Given the description of an element on the screen output the (x, y) to click on. 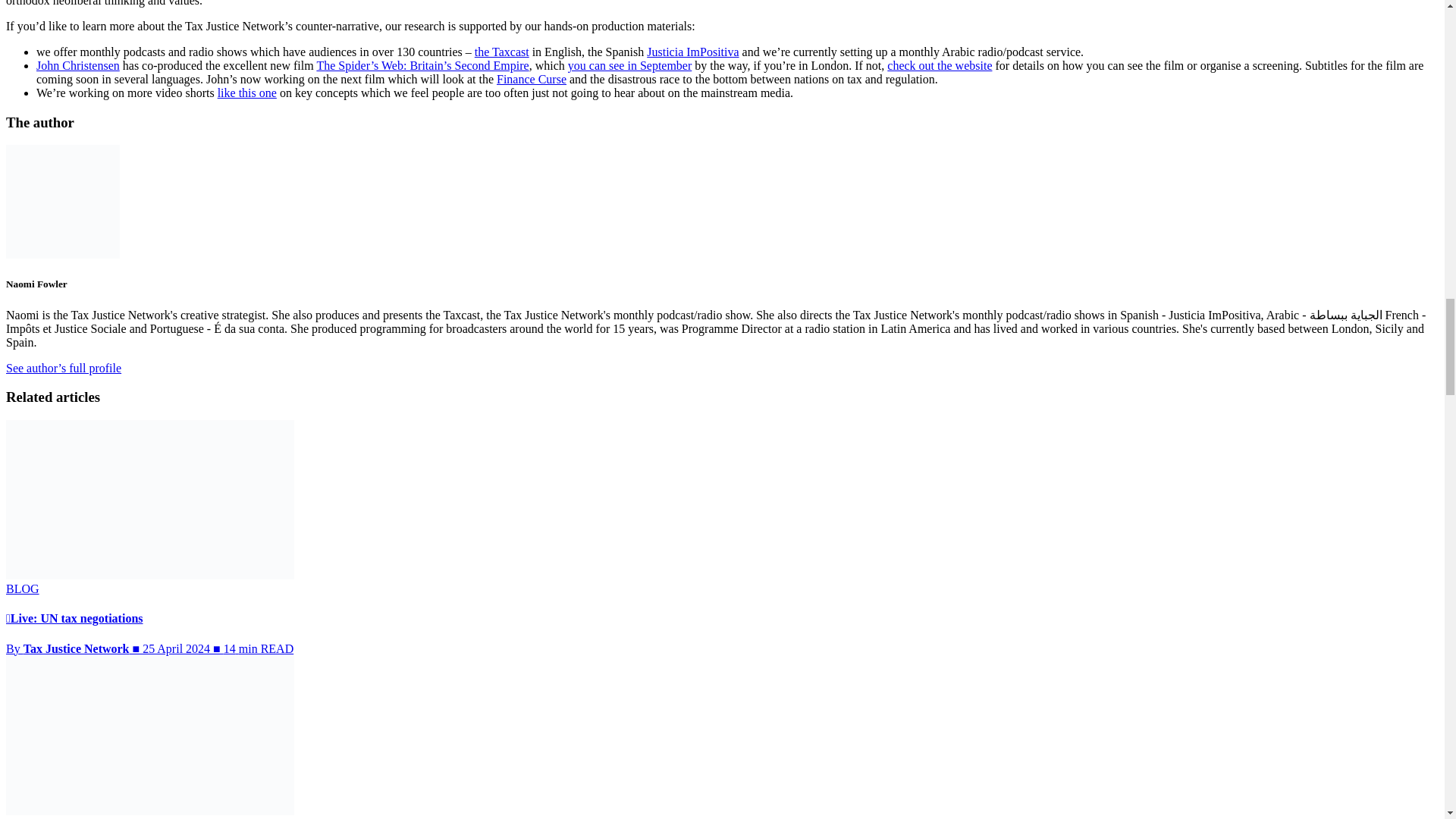
PM Keir Starmer and President Biden speak at NATO Summit (149, 735)
